Given the description of an element on the screen output the (x, y) to click on. 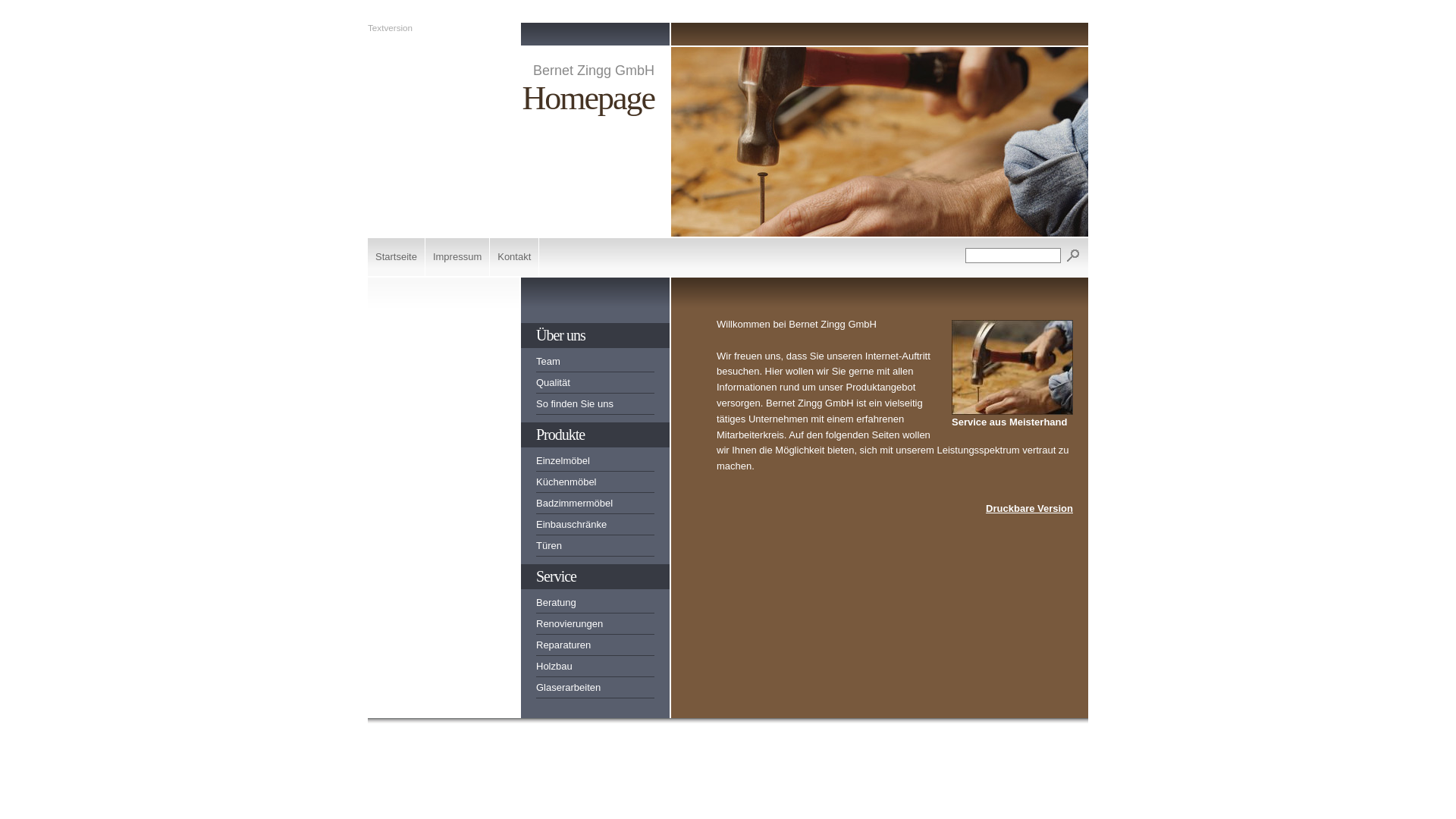
Reparaturen Element type: text (595, 647)
Service Element type: text (594, 576)
Produkte Element type: text (594, 434)
Startseite Element type: text (396, 257)
Beratung Element type: text (595, 604)
Textversion Element type: text (389, 27)
Holzbau Element type: text (595, 668)
Kontakt Element type: text (514, 257)
Team Element type: text (595, 363)
Druckbare Version Element type: text (1029, 508)
Renovierungen Element type: text (595, 626)
So finden Sie uns Element type: text (595, 406)
Impressum Element type: text (457, 257)
Glaserarbeiten Element type: text (595, 689)
